Given the description of an element on the screen output the (x, y) to click on. 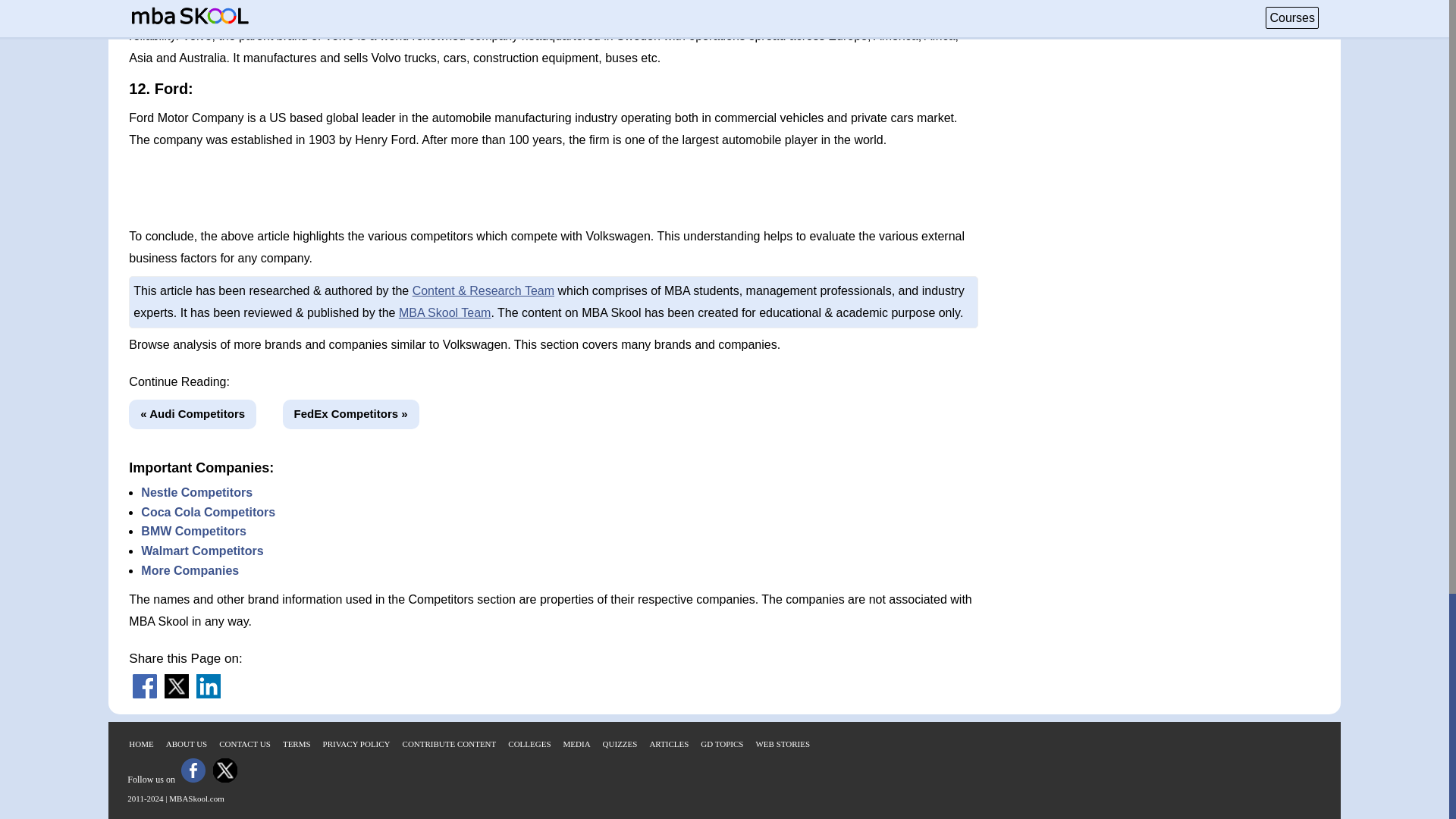
Walmart Competitors (202, 550)
Tweet (176, 694)
Coca Cola Competitors (208, 512)
BMW Competitors (193, 530)
MBA Skool Team (445, 312)
FedEx Competitors (350, 414)
Nestle Competitors (196, 492)
Facebook Share (144, 694)
Audi Competitors (192, 414)
Share on Linkedin (208, 694)
